Given the description of an element on the screen output the (x, y) to click on. 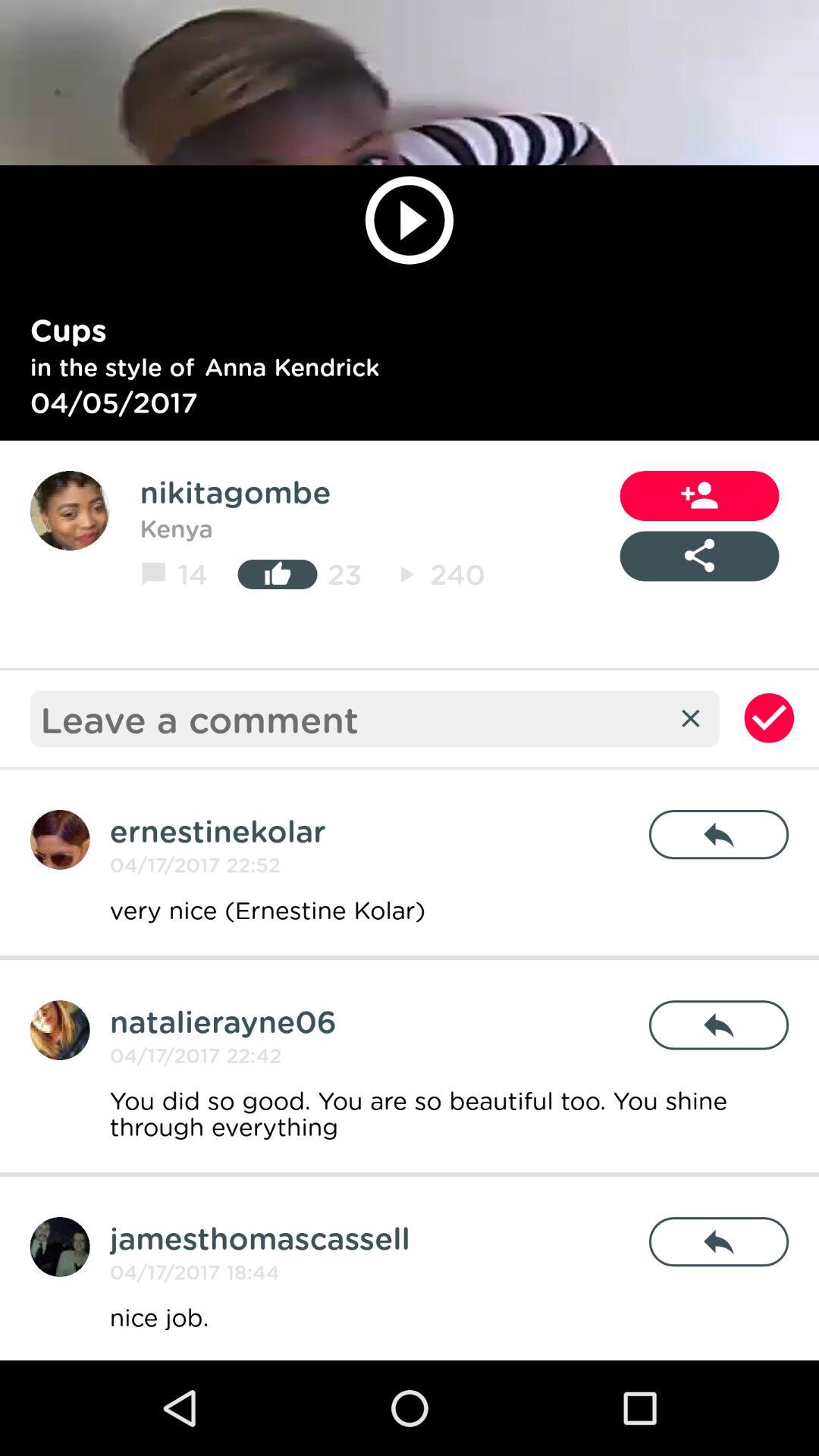
press icon above nice job. (718, 1241)
